Given the description of an element on the screen output the (x, y) to click on. 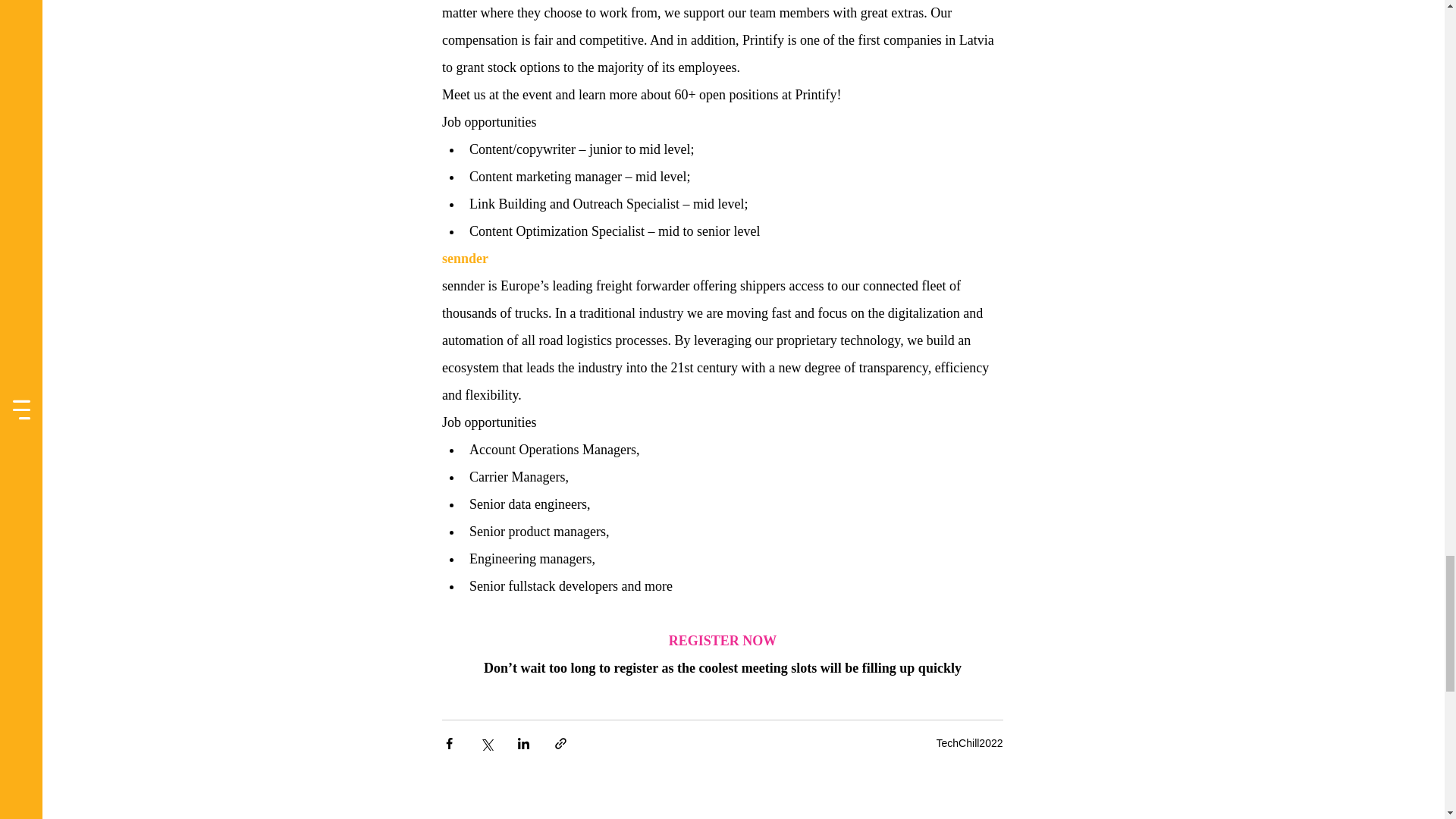
sennder (464, 258)
TechChill2022 (969, 743)
REGISTER NOW (722, 640)
